Given the description of an element on the screen output the (x, y) to click on. 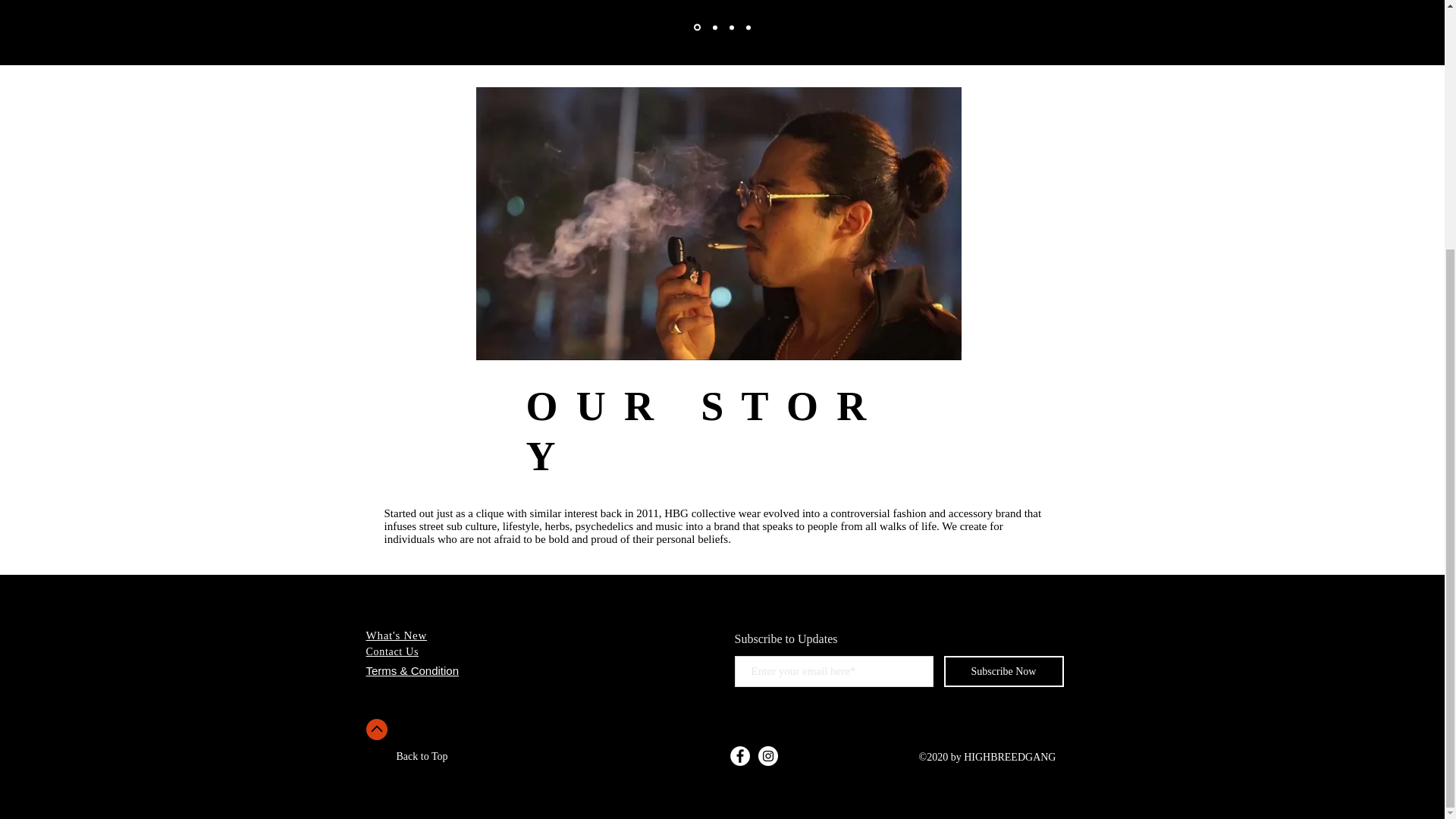
Back to Top (421, 756)
Subscribe Now (1002, 671)
Contact Us (392, 651)
What's New (395, 635)
